Given the description of an element on the screen output the (x, y) to click on. 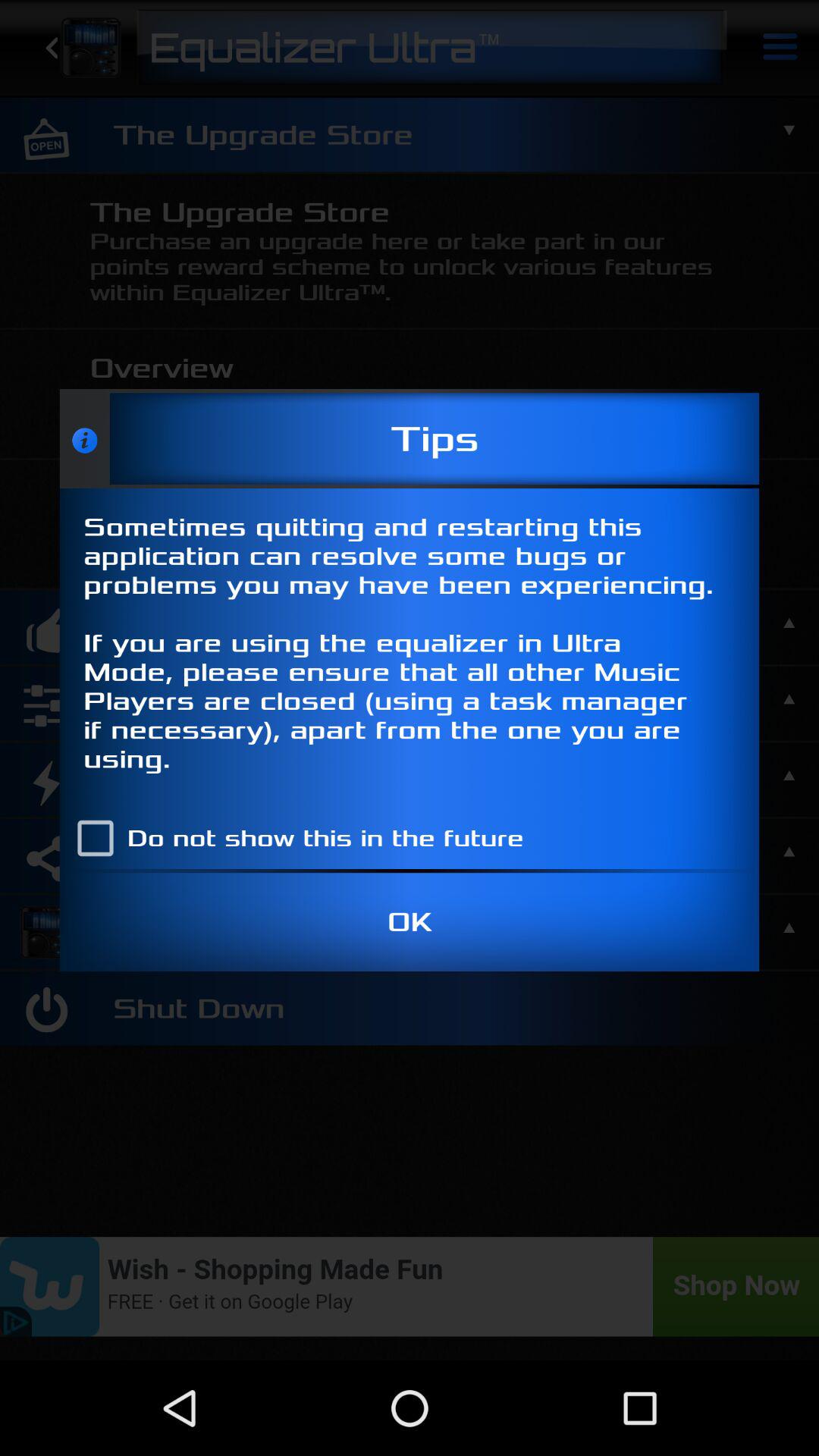
press icon below the sometimes quitting and (293, 838)
